Given the description of an element on the screen output the (x, y) to click on. 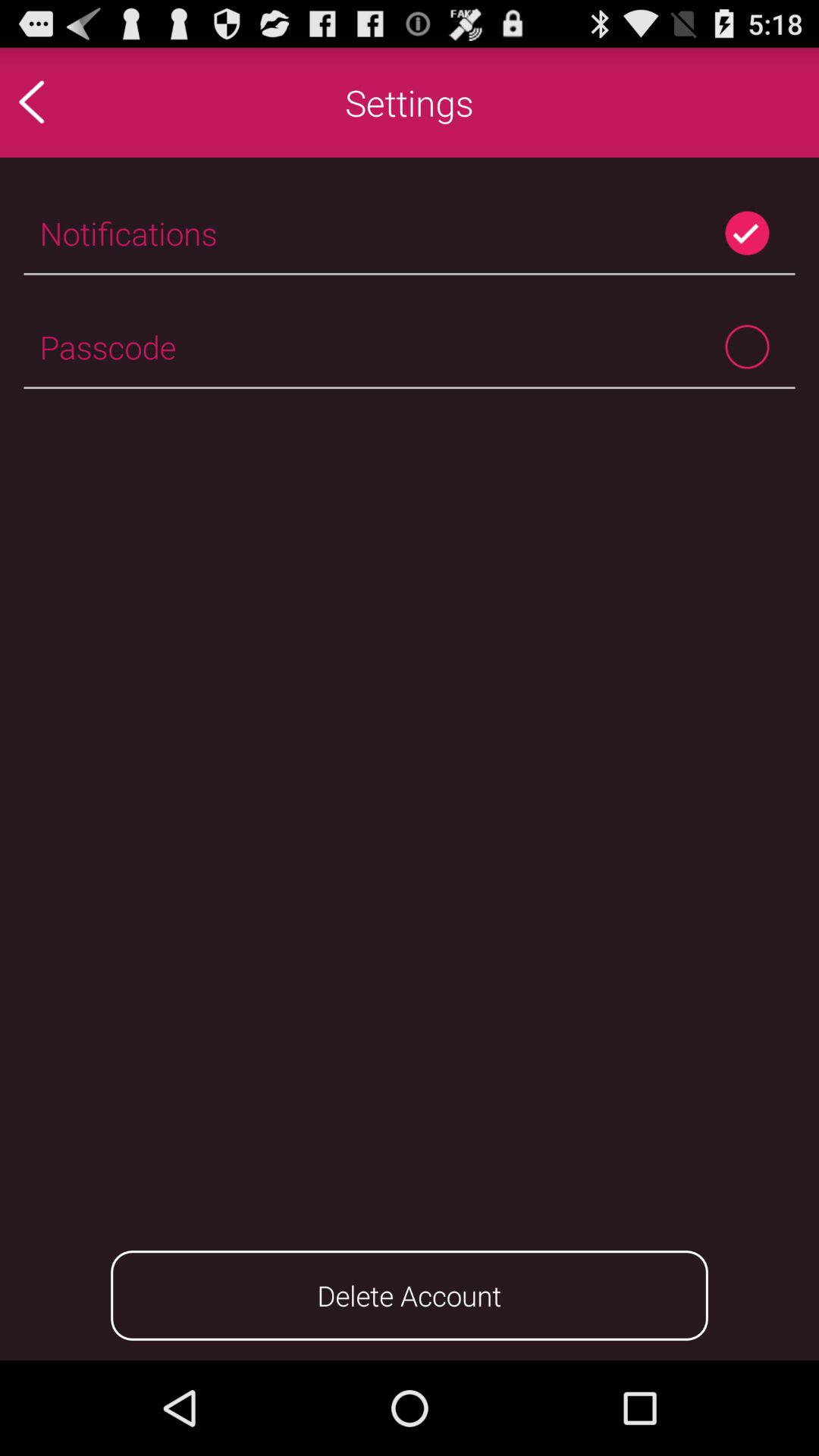
press the item next to the notifications icon (747, 233)
